Given the description of an element on the screen output the (x, y) to click on. 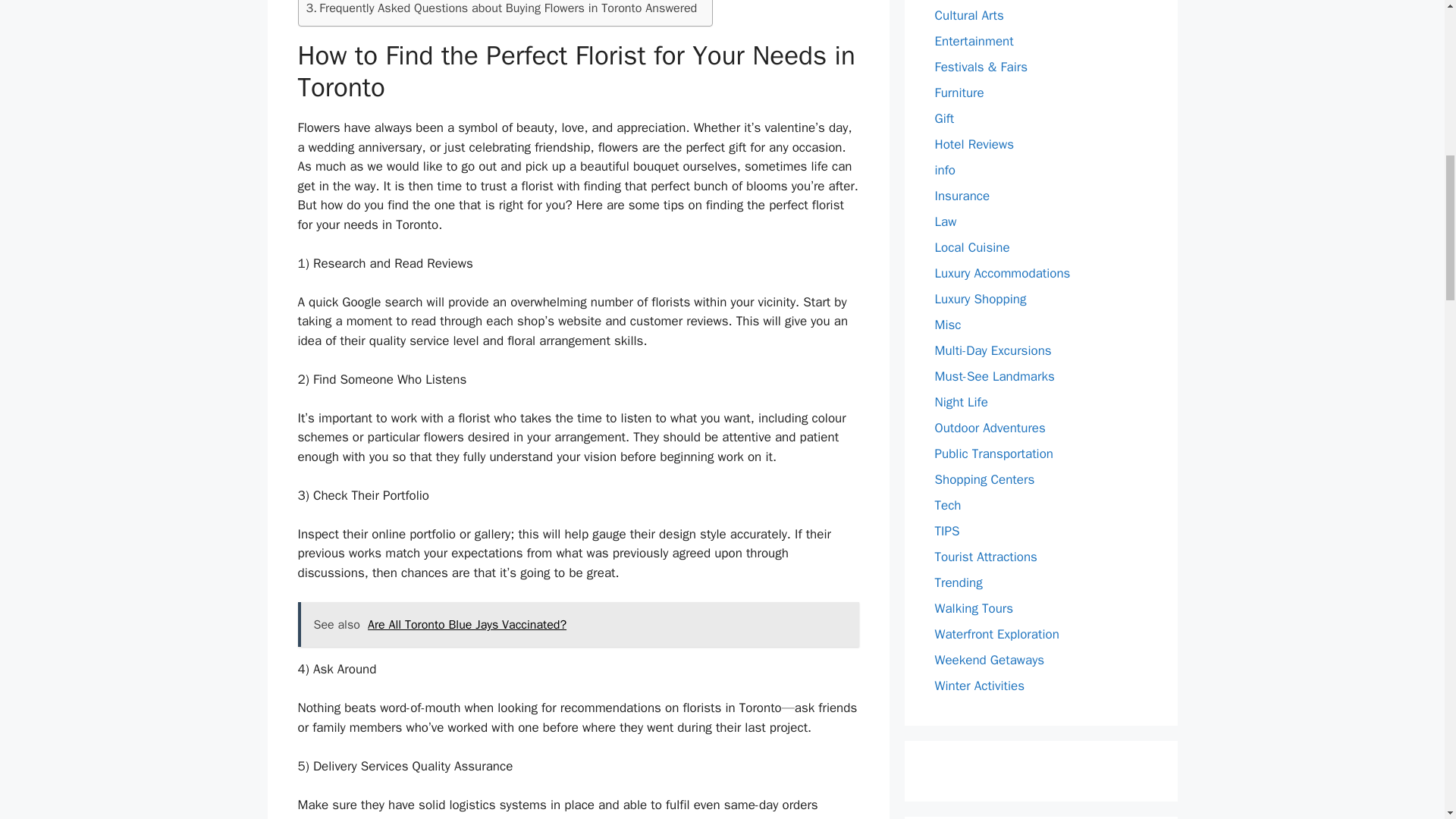
See also  Are All Toronto Blue Jays Vaccinated? (578, 624)
